Given the description of an element on the screen output the (x, y) to click on. 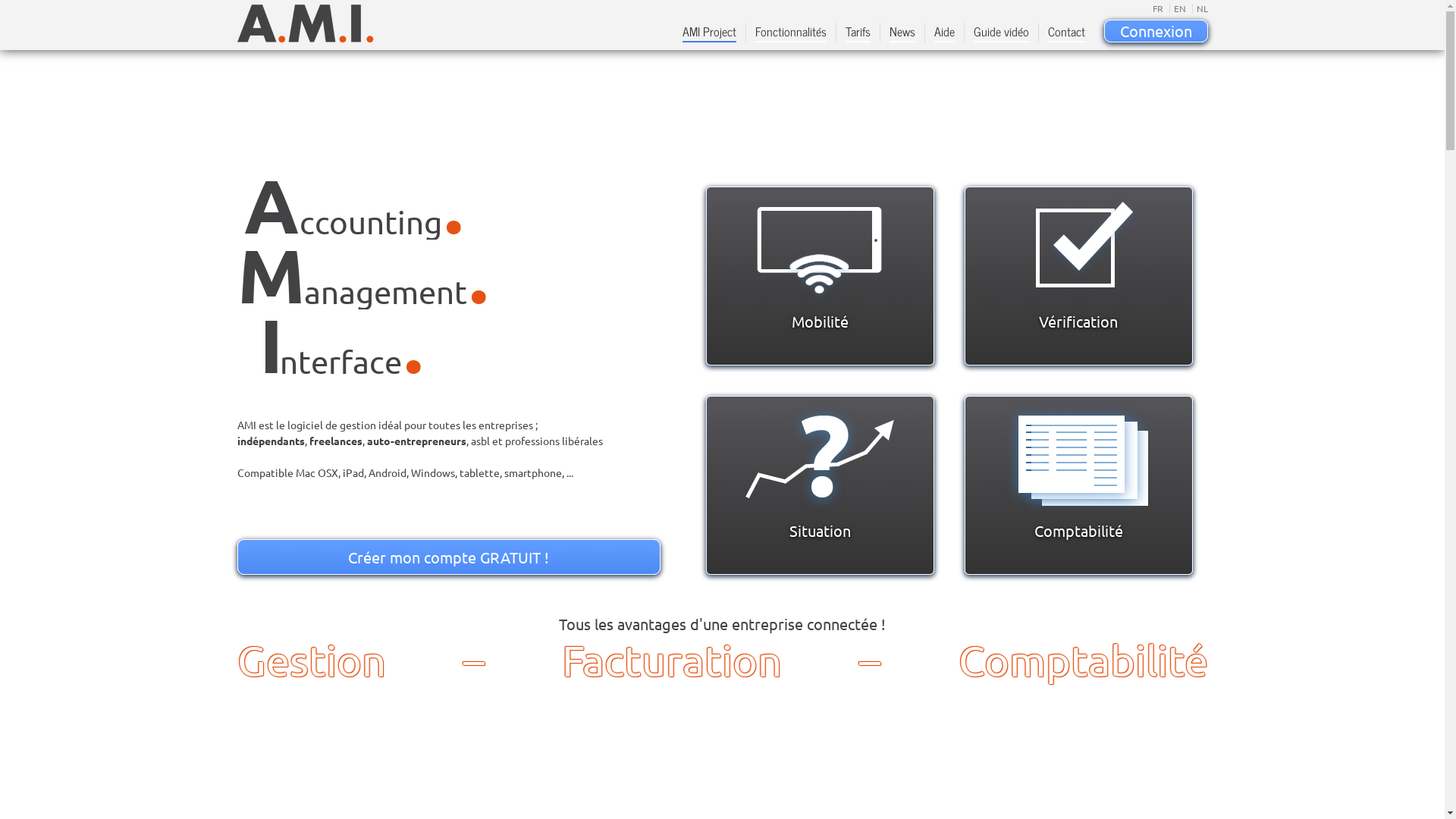
FR Element type: text (1157, 7)
Contact Element type: text (1066, 33)
AMI logo - Accounting Management Interface Element type: hover (304, 23)
Connexion Element type: text (1156, 30)
Simplifiez la gestion de votre entreprise Element type: hover (1078, 247)
Aide Element type: text (944, 33)
EN Element type: text (1177, 7)
La situation de votre entreprise en un coup d'oeil Element type: hover (819, 457)
Tarifs Element type: text (856, 33)
Vos documents vous suivent partout Element type: hover (819, 247)
News Element type: text (901, 33)
AMI Project Element type: text (709, 33)
NL Element type: text (1200, 7)
